Given the description of an element on the screen output the (x, y) to click on. 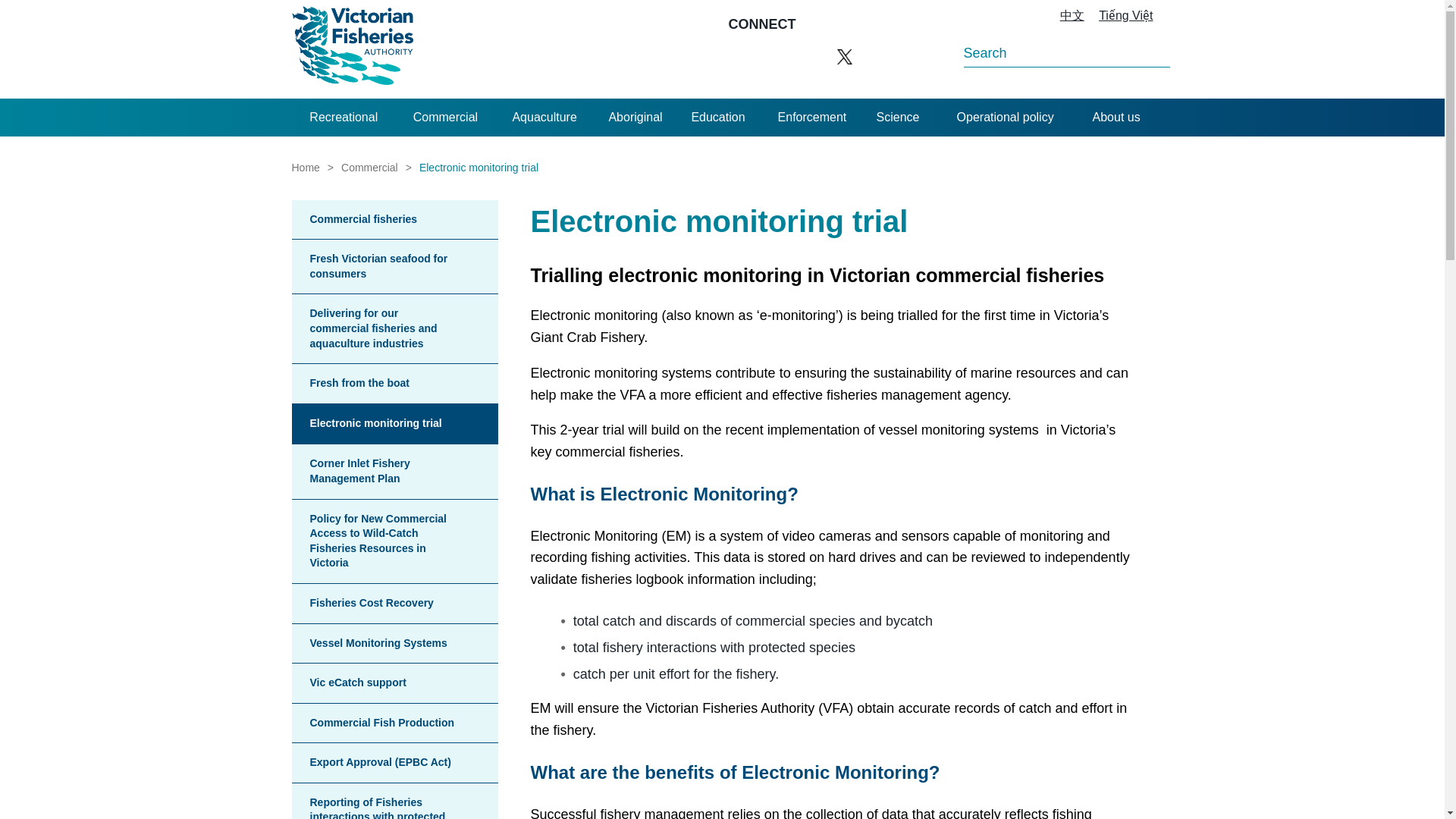
Instagram (769, 56)
Facebook (735, 56)
Commercial (445, 117)
Search (1137, 47)
Instagram (769, 56)
YouTube (806, 56)
YouTube (806, 56)
Facebook (735, 56)
Recreational (343, 117)
Home - VFA (351, 48)
